Given the description of an element on the screen output the (x, y) to click on. 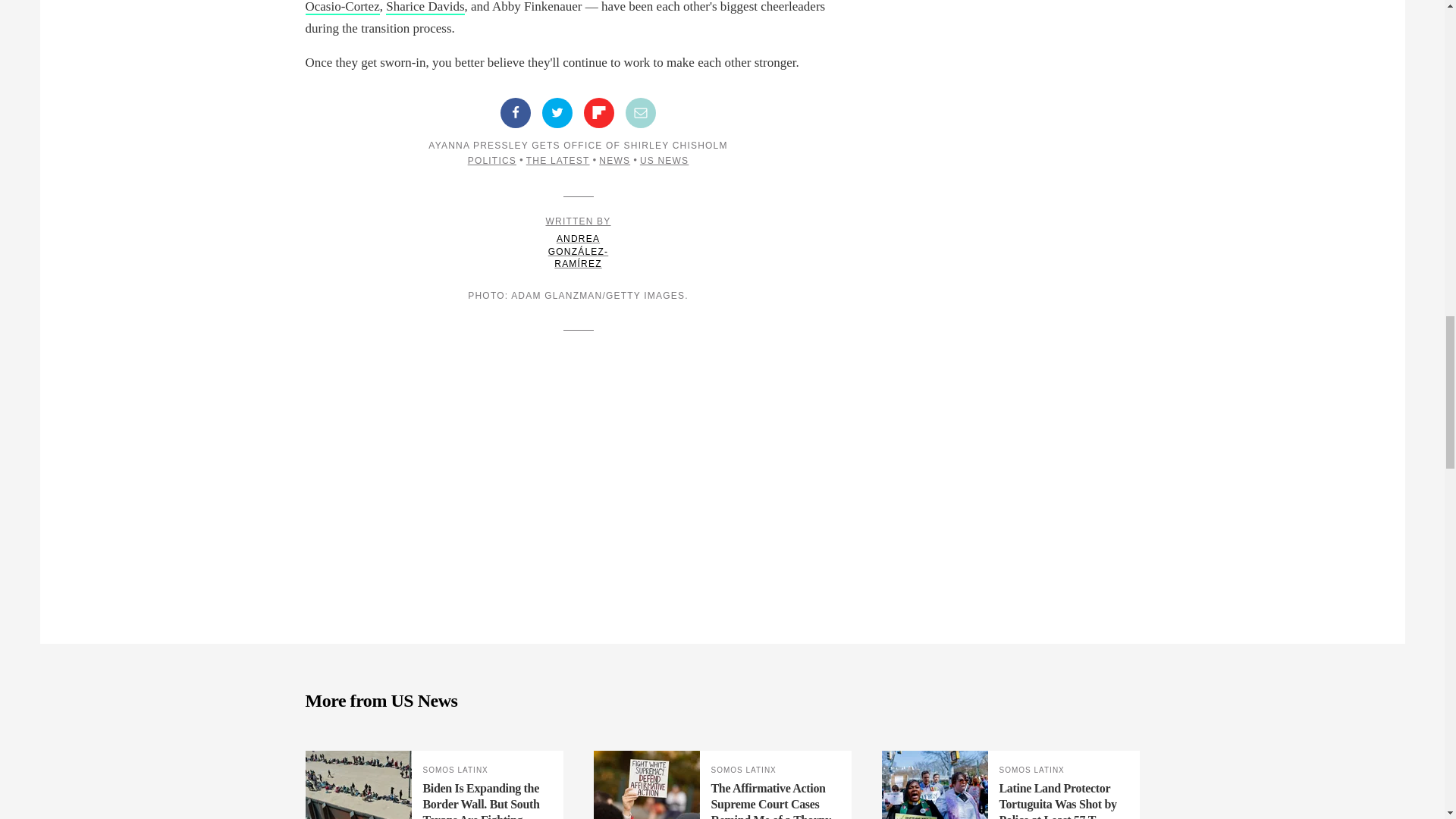
Share by Email (641, 112)
Share on Flipboard (598, 112)
Share on Twitter (556, 112)
Alexandria Ocasio-Cortez (567, 7)
Share on Facebook (515, 112)
Sharice Davids (424, 7)
